Given the description of an element on the screen output the (x, y) to click on. 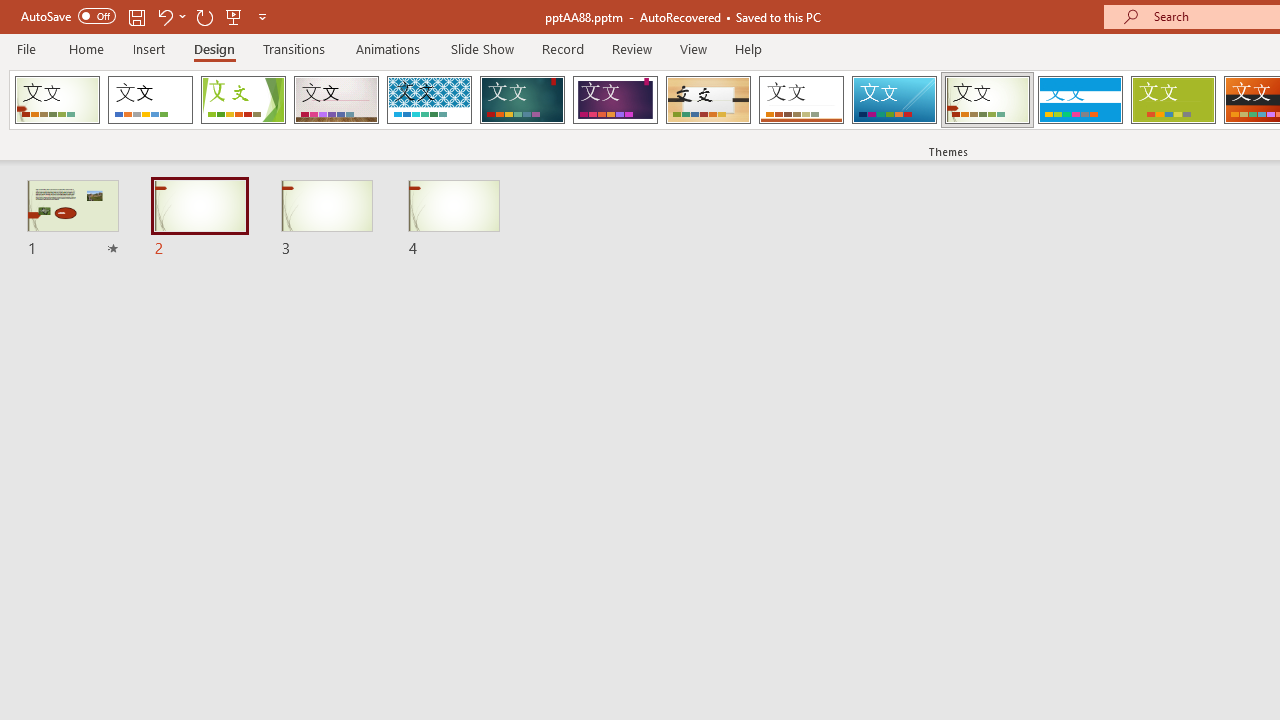
Organic Loading Preview... (708, 100)
Office Theme (150, 100)
Retrospect Loading Preview... (801, 100)
